Given the description of an element on the screen output the (x, y) to click on. 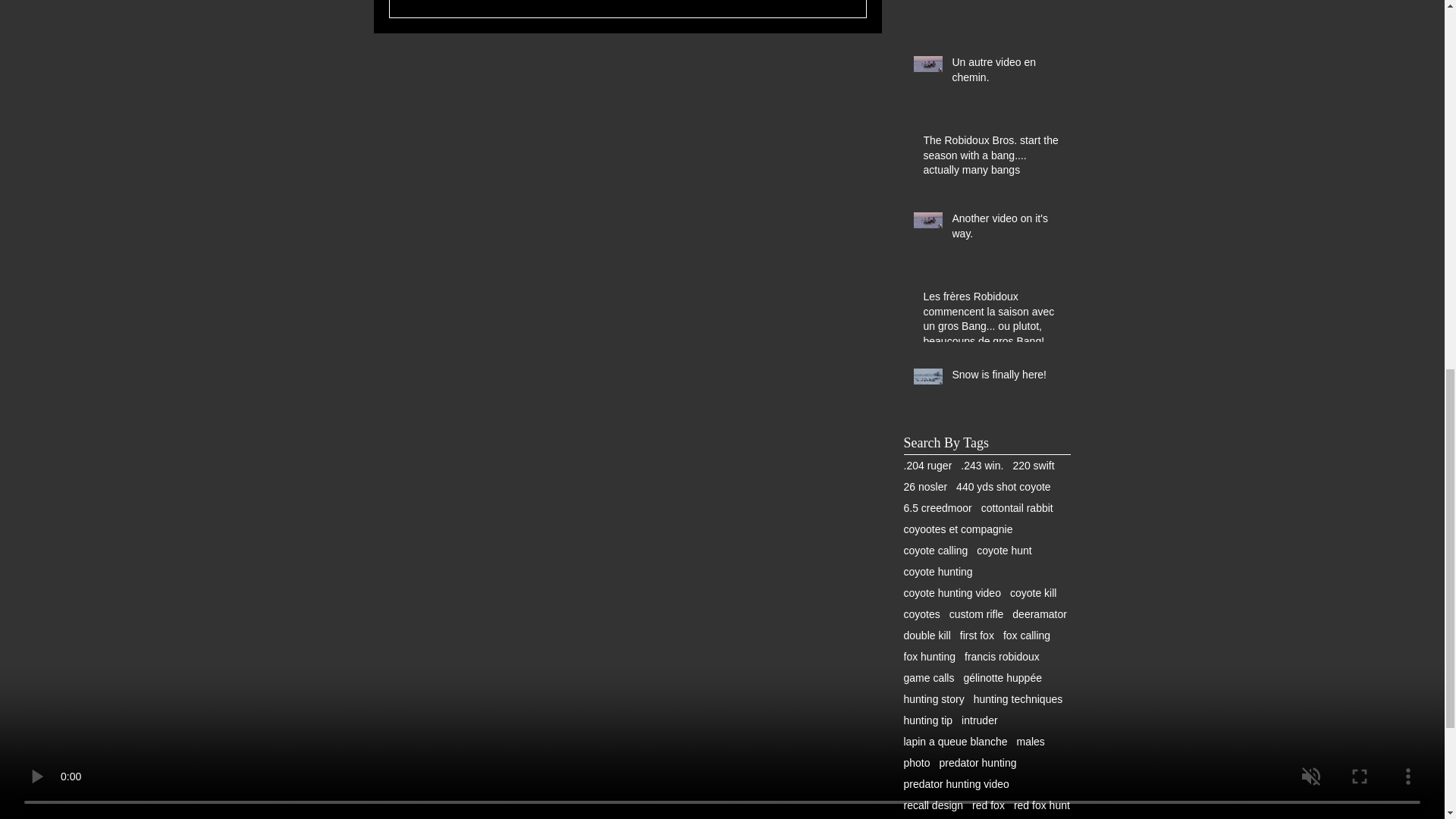
6.5 creedmoor (938, 508)
Un autre video en chemin. (1006, 72)
220 swift (1032, 465)
.204 ruger (928, 465)
Another video on it's way. (1006, 229)
.243 win. (981, 465)
Snow is finally here! (1006, 378)
440 yds shot coyote (1003, 486)
26 nosler (925, 486)
